Given the description of an element on the screen output the (x, y) to click on. 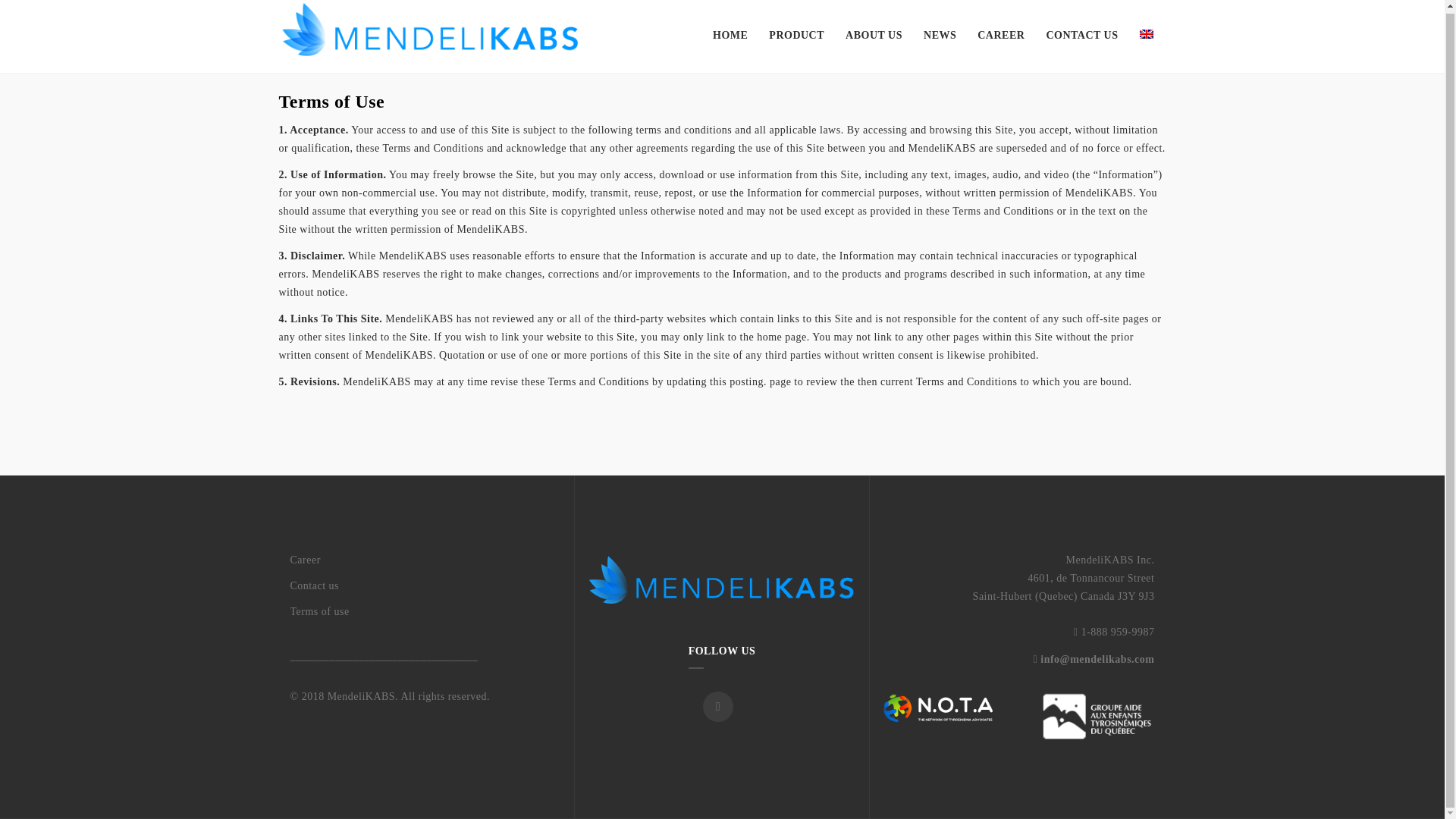
Career (425, 560)
CONTACT US (1081, 36)
English (1145, 33)
ABOUT US (873, 36)
Facebook (718, 706)
Contact us (425, 586)
Terms of use (425, 611)
PRODUCT (796, 36)
